Given the description of an element on the screen output the (x, y) to click on. 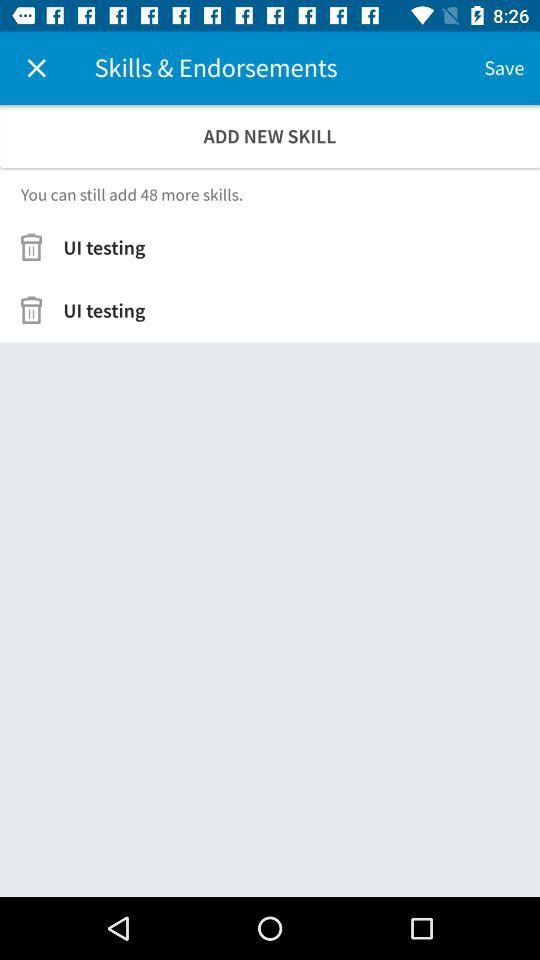
select save item (504, 67)
